Given the description of an element on the screen output the (x, y) to click on. 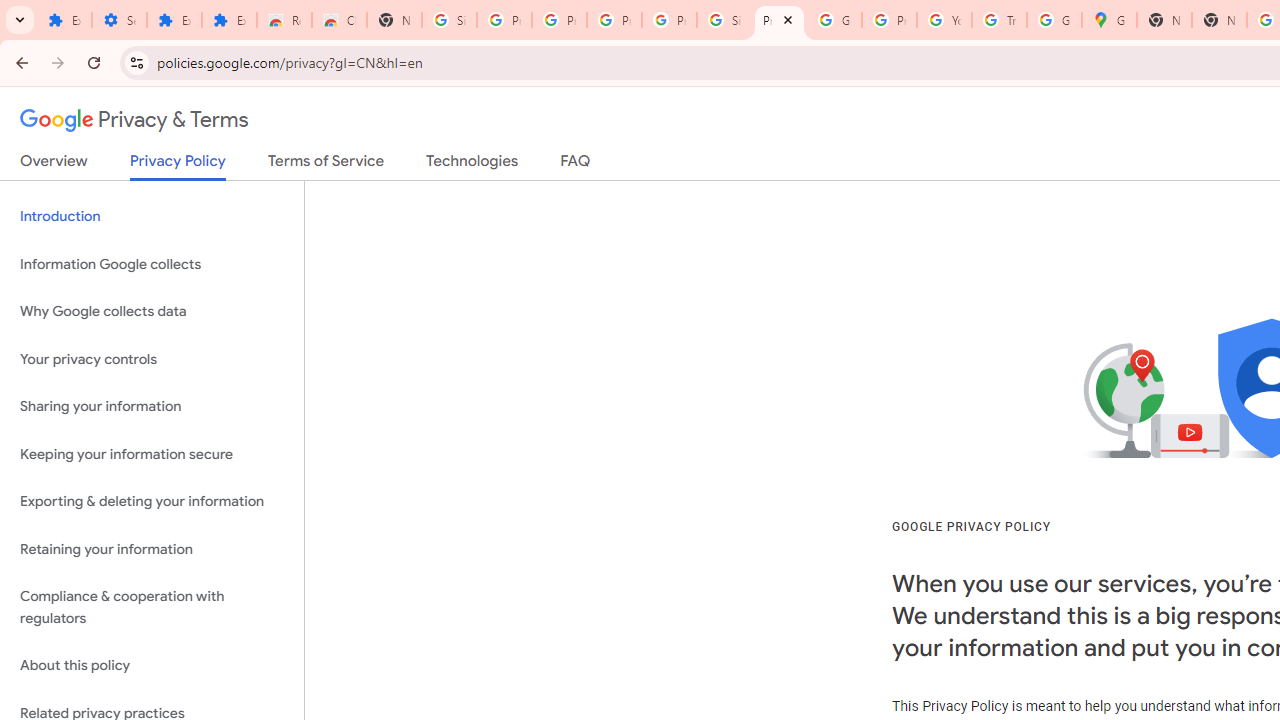
New Tab (394, 20)
Settings (119, 20)
Sign in - Google Accounts (449, 20)
Sign in - Google Accounts (724, 20)
Your privacy controls (152, 358)
New Tab (1218, 20)
Extensions (64, 20)
Chrome Web Store - Themes (339, 20)
